Given the description of an element on the screen output the (x, y) to click on. 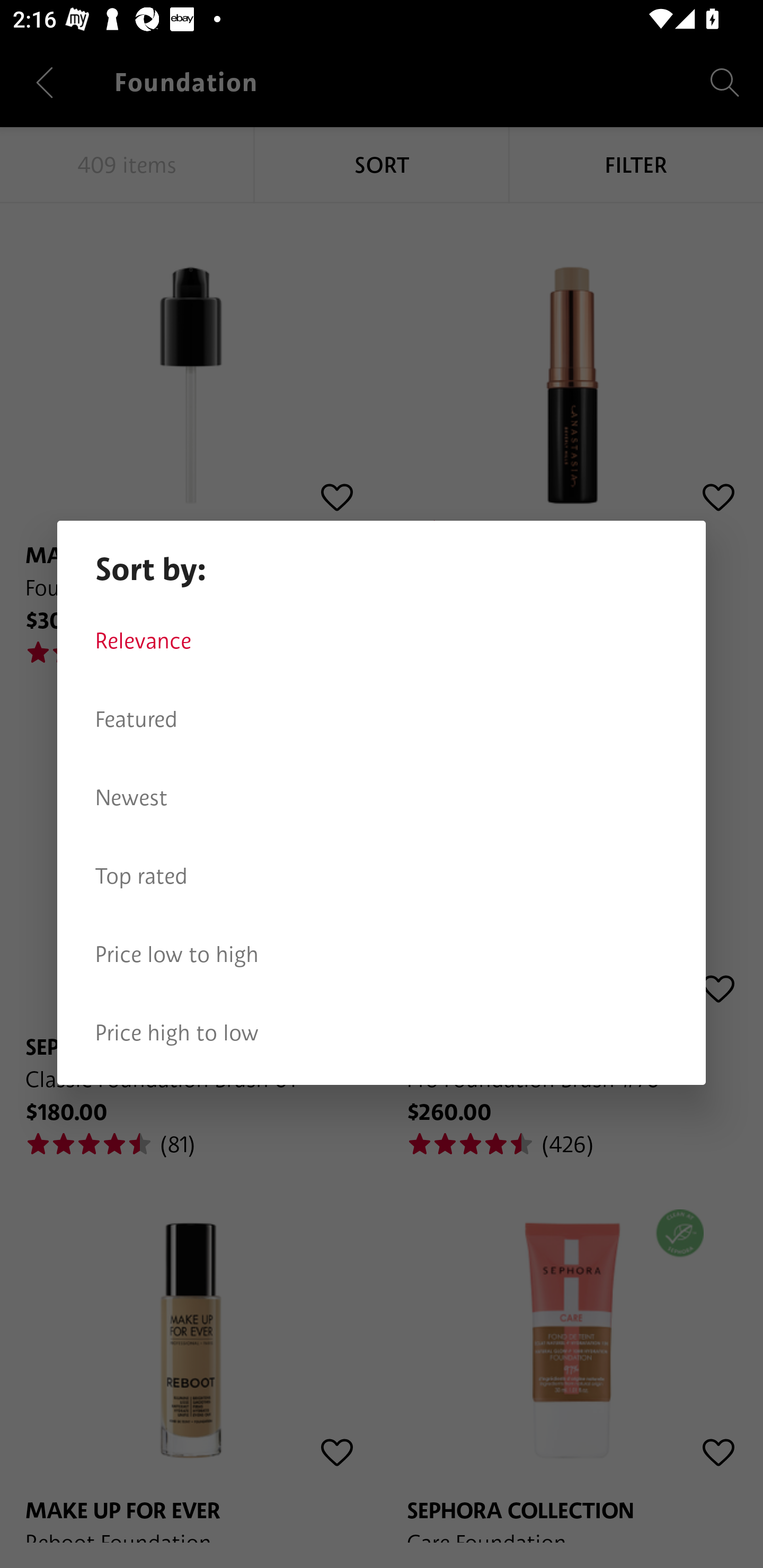
Relevance (381, 641)
Featured (381, 719)
Newest (381, 797)
Top rated (381, 876)
Price low to high (381, 954)
Price high to low (381, 1033)
